Given the description of an element on the screen output the (x, y) to click on. 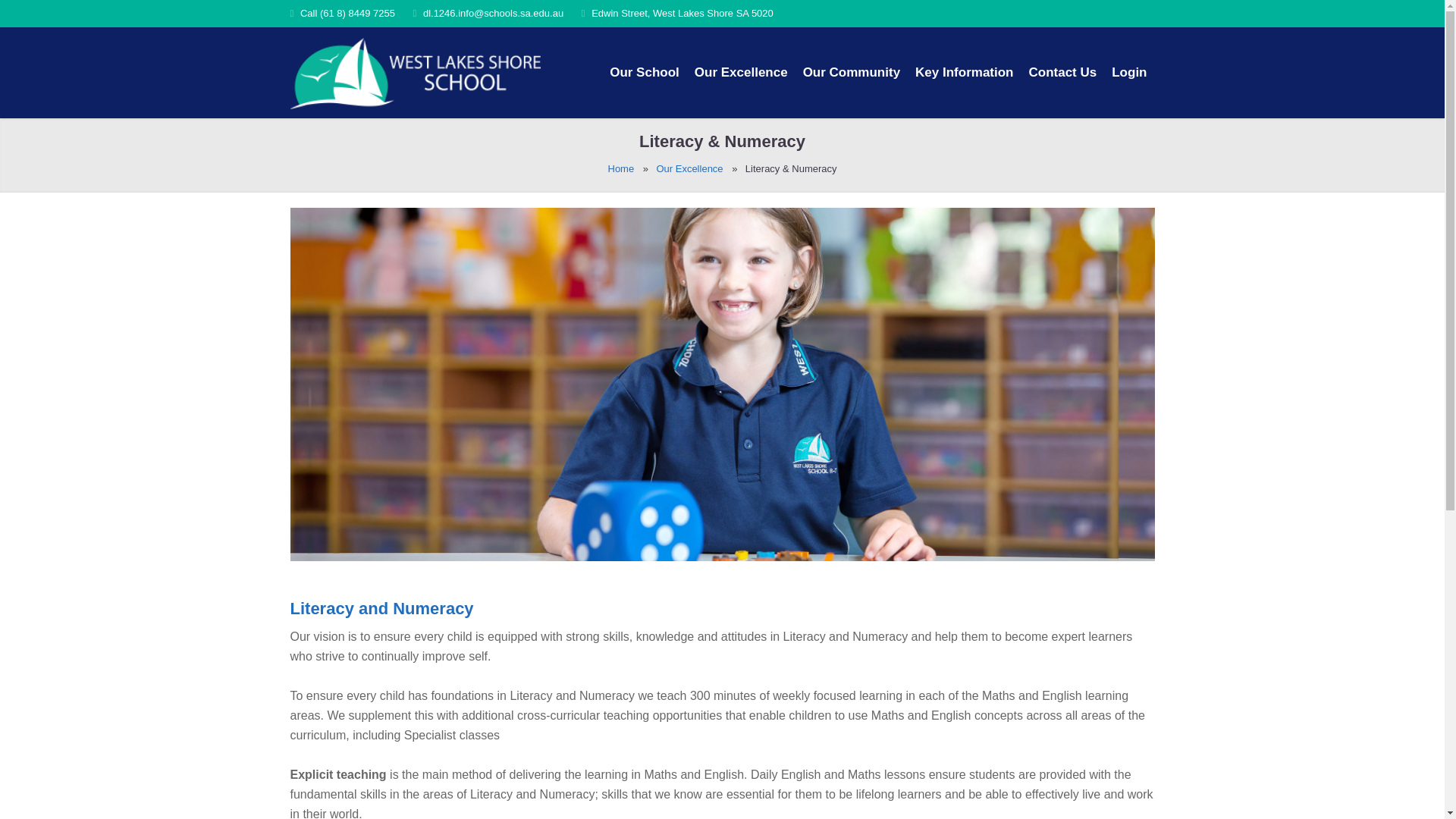
Home (621, 168)
Key Information (963, 72)
Our School (644, 72)
Our Excellence (740, 72)
Contact Us (1061, 72)
Our Community (850, 72)
